Given the description of an element on the screen output the (x, y) to click on. 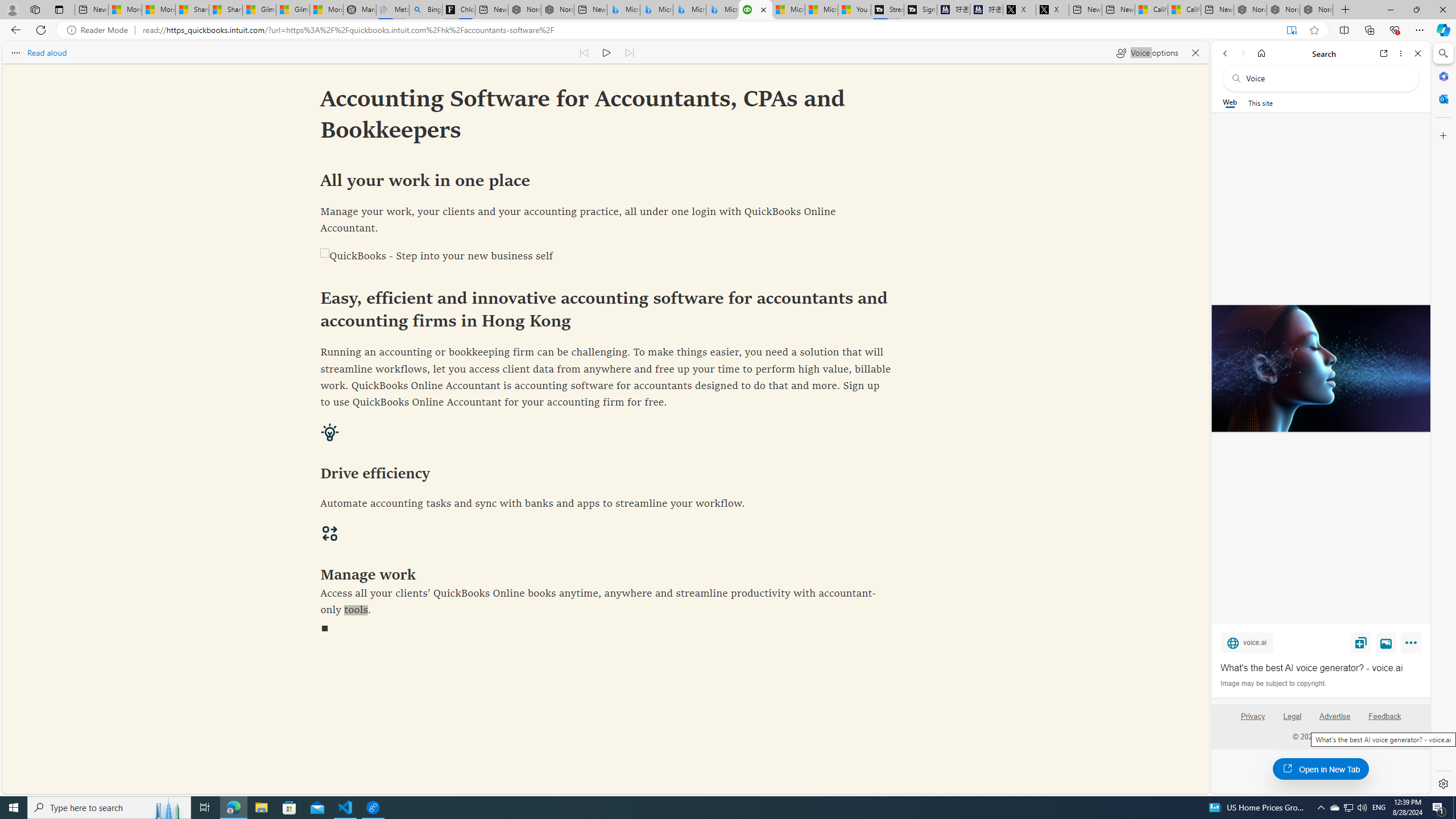
Legal (1292, 720)
Bing Real Estate - Home sales and rental listings (425, 9)
Continue to read aloud (Ctrl+Shift+U) (606, 52)
Chloe Sorvino (458, 9)
